Given the description of an element on the screen output the (x, y) to click on. 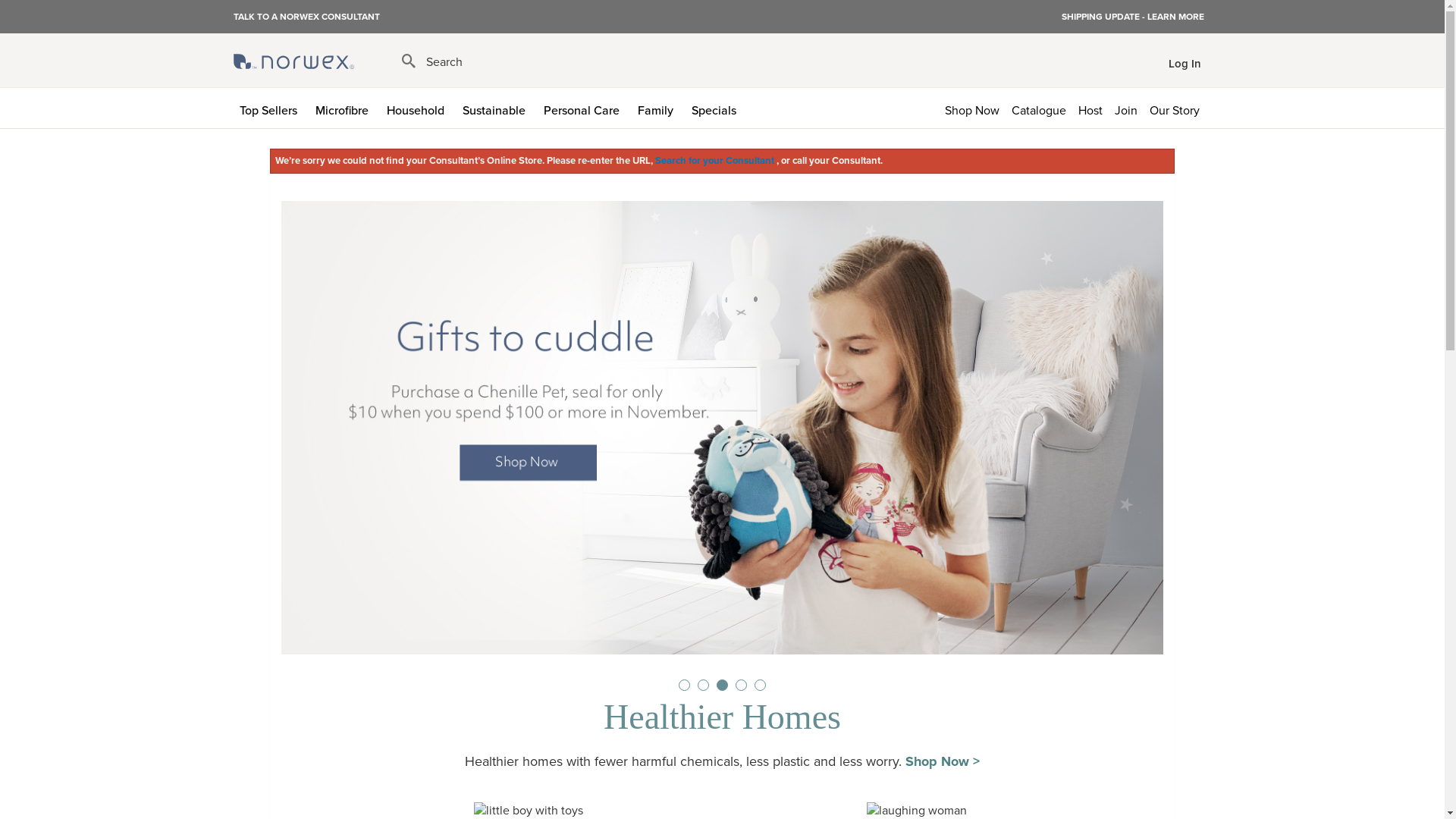
Top Sellers Element type: text (271, 107)
TALK TO A NORWEX CONSULTANT Element type: text (306, 15)
Shop Now > Element type: text (942, 761)
Join Element type: text (1125, 107)
Personal Care Element type: text (583, 107)
Sustainable Element type: text (496, 107)
Host Element type: text (1090, 107)
Our Story Element type: text (1177, 107)
Specials Element type: text (716, 107)
Family Element type: text (657, 107)
Household Element type: text (418, 107)
Catalogue Element type: text (1038, 107)
Shop Now Element type: text (971, 107)
SHIPPING UPDATE - LEARN MORE Element type: text (1132, 16)
Search Element type: text (431, 61)
Search for your Consultant Element type: text (715, 160)
Microfibre Element type: text (344, 107)
